Given the description of an element on the screen output the (x, y) to click on. 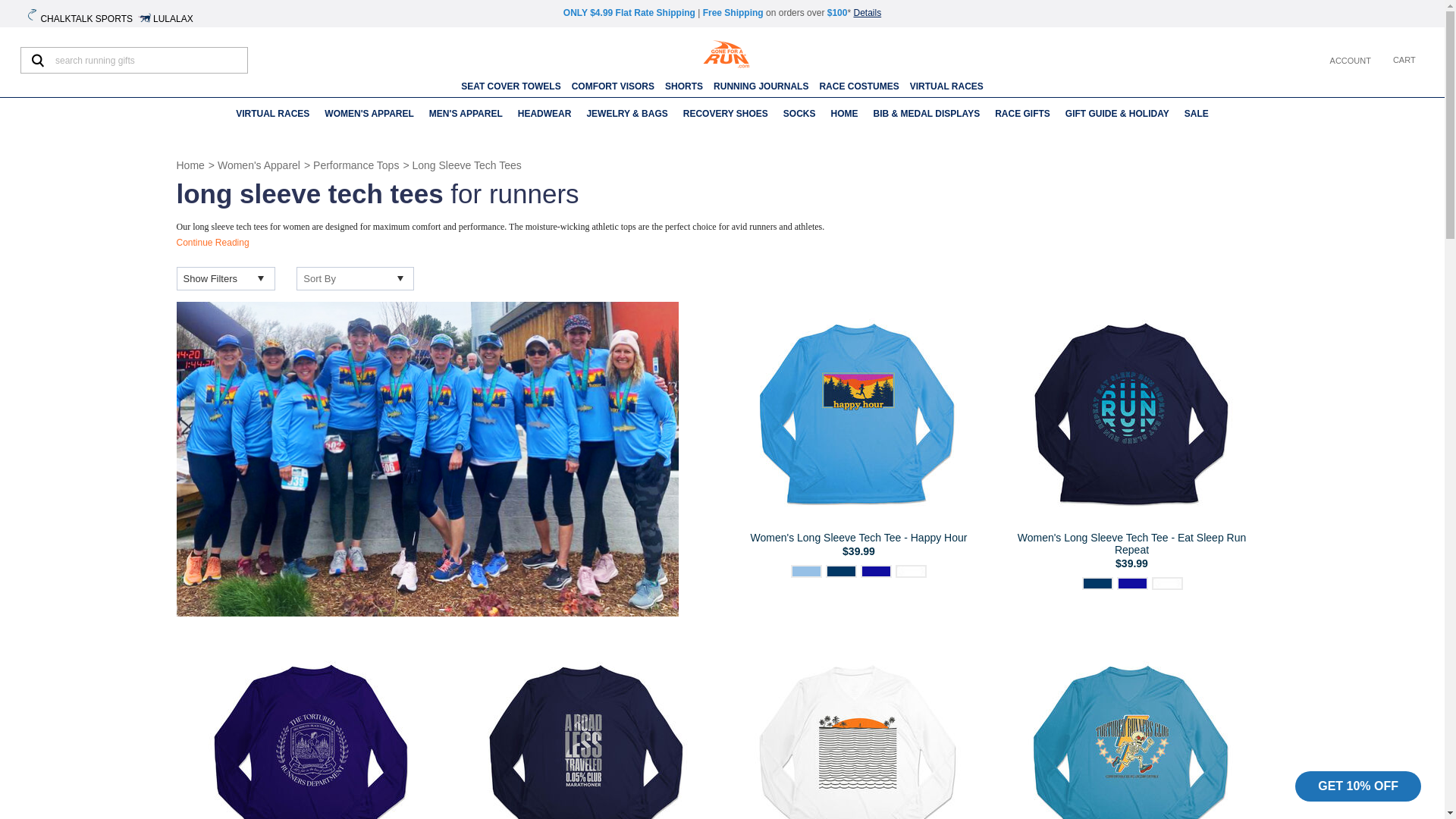
Details (866, 12)
VIRTUAL RACES (272, 113)
go (37, 59)
SEAT COVER TOWELS (510, 86)
VIRTUAL RACES (947, 86)
CHALKTALK SPORTS (80, 16)
COMFORT VISORS (612, 86)
SHORTS (684, 86)
go (37, 59)
go (37, 59)
LULALAX (166, 16)
RUNNING JOURNALS (760, 86)
ACCOUNT (1348, 59)
RACE COSTUMES (858, 86)
